Given the description of an element on the screen output the (x, y) to click on. 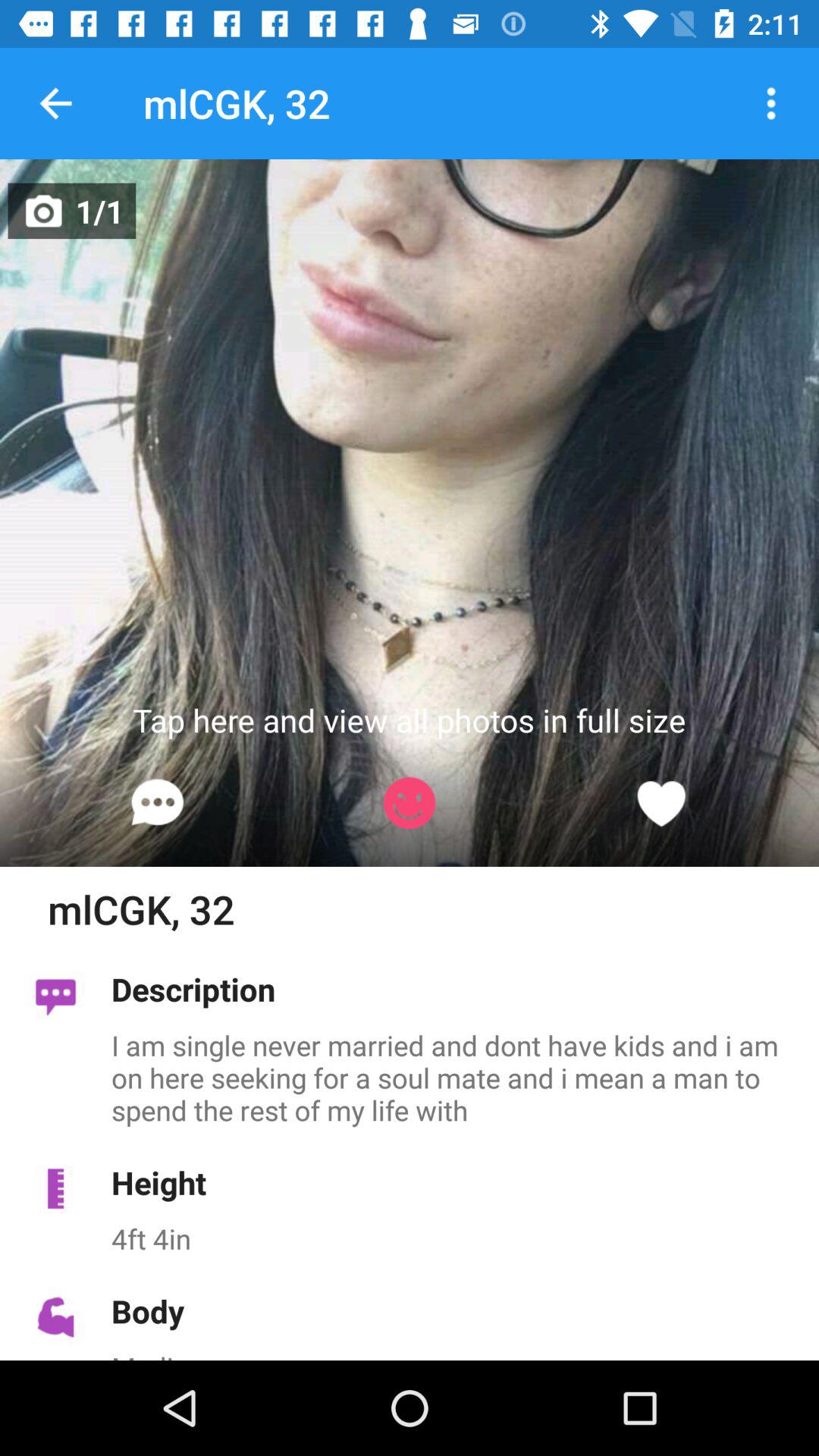
click item above body (457, 1238)
